Given the description of an element on the screen output the (x, y) to click on. 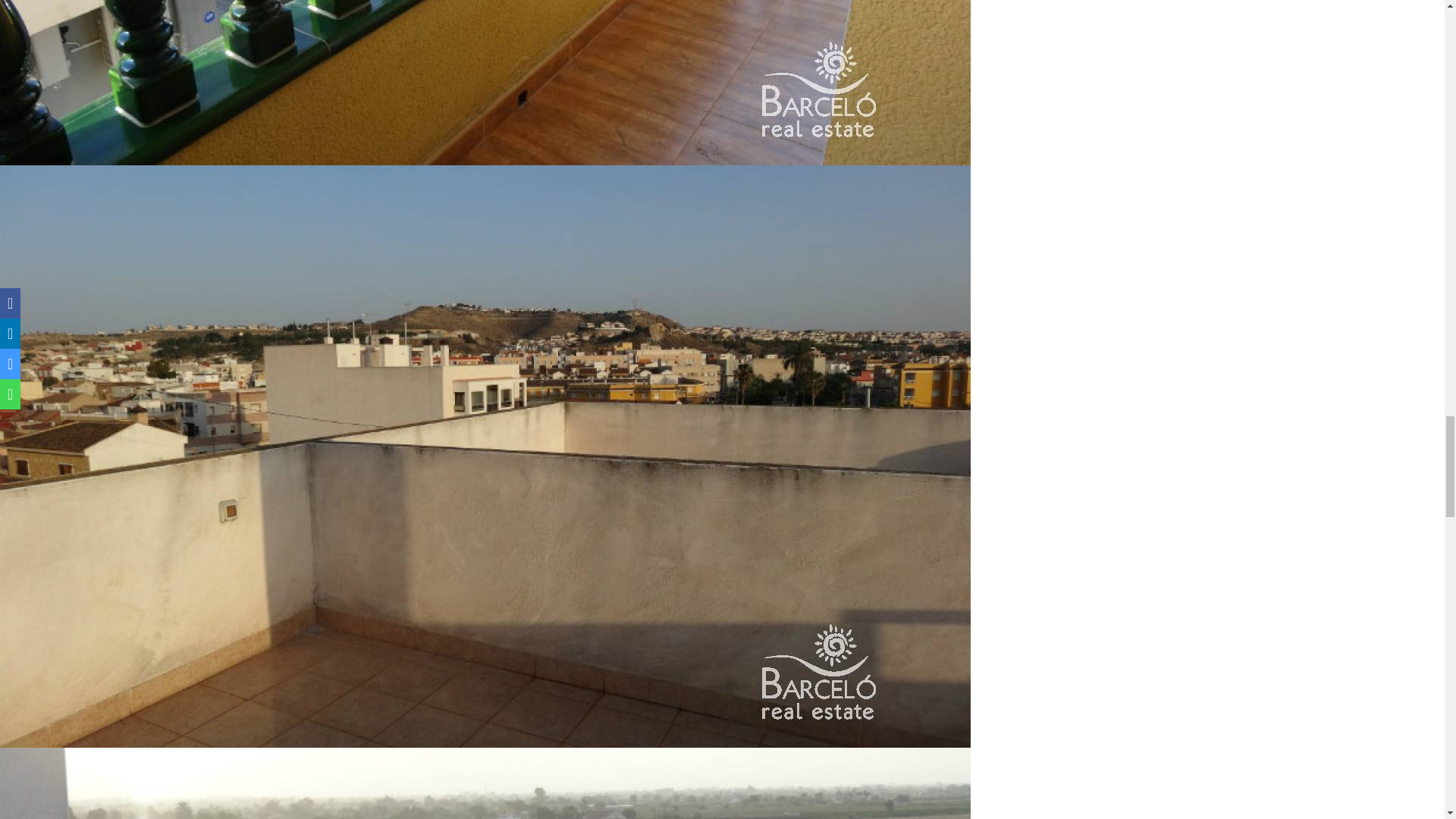
Resale - Apartment - Formentera del Segura - Zona Rojales (485, 783)
